Given the description of an element on the screen output the (x, y) to click on. 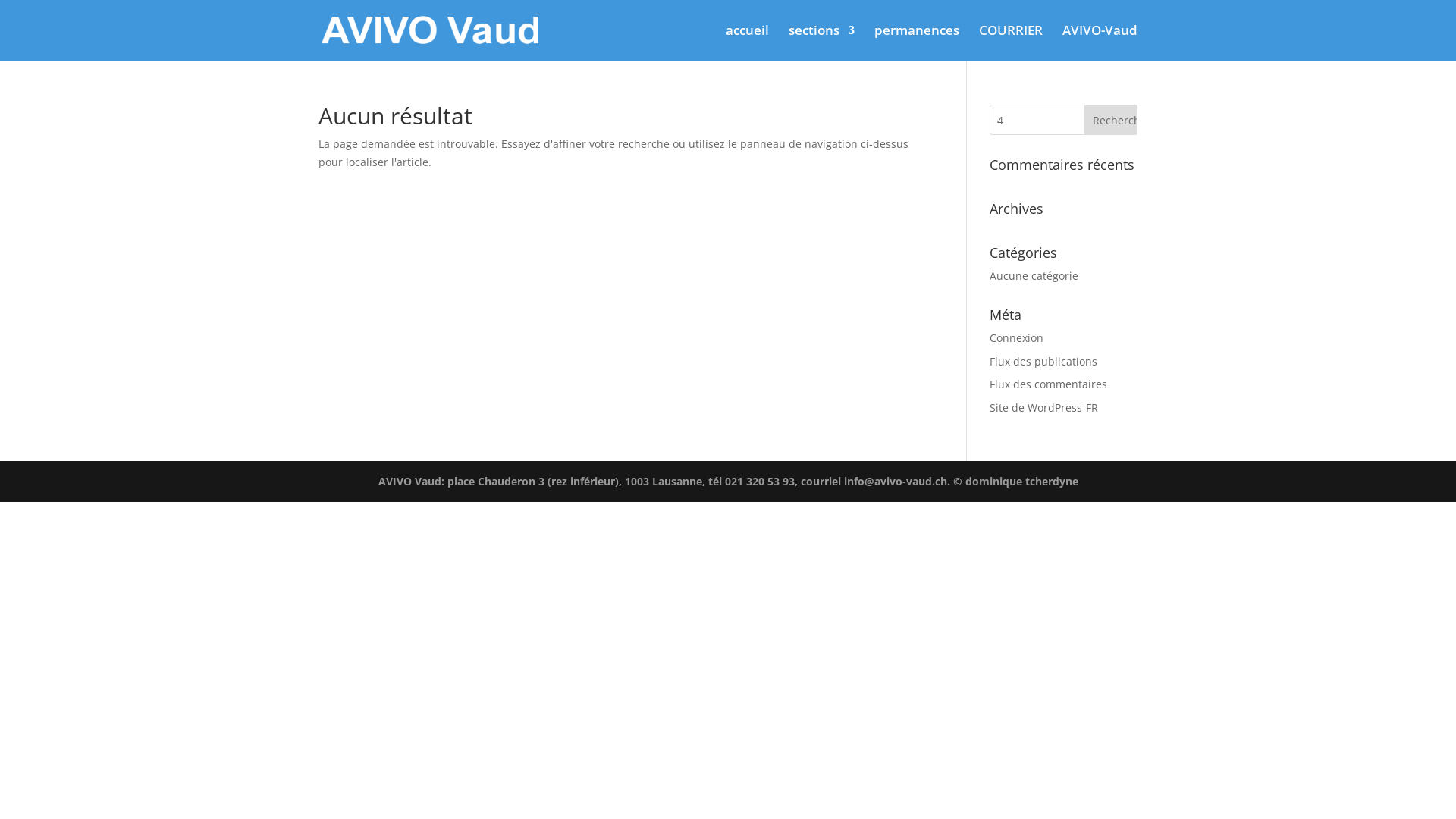
AVIVO-Vaud Element type: text (1099, 42)
sections Element type: text (821, 42)
permanences Element type: text (916, 42)
Site de WordPress-FR Element type: text (1043, 407)
accueil Element type: text (746, 42)
Flux des commentaires Element type: text (1048, 383)
Flux des publications Element type: text (1043, 361)
Connexion Element type: text (1016, 337)
COURRIER Element type: text (1010, 42)
Rechercher Element type: text (1110, 119)
